Given the description of an element on the screen output the (x, y) to click on. 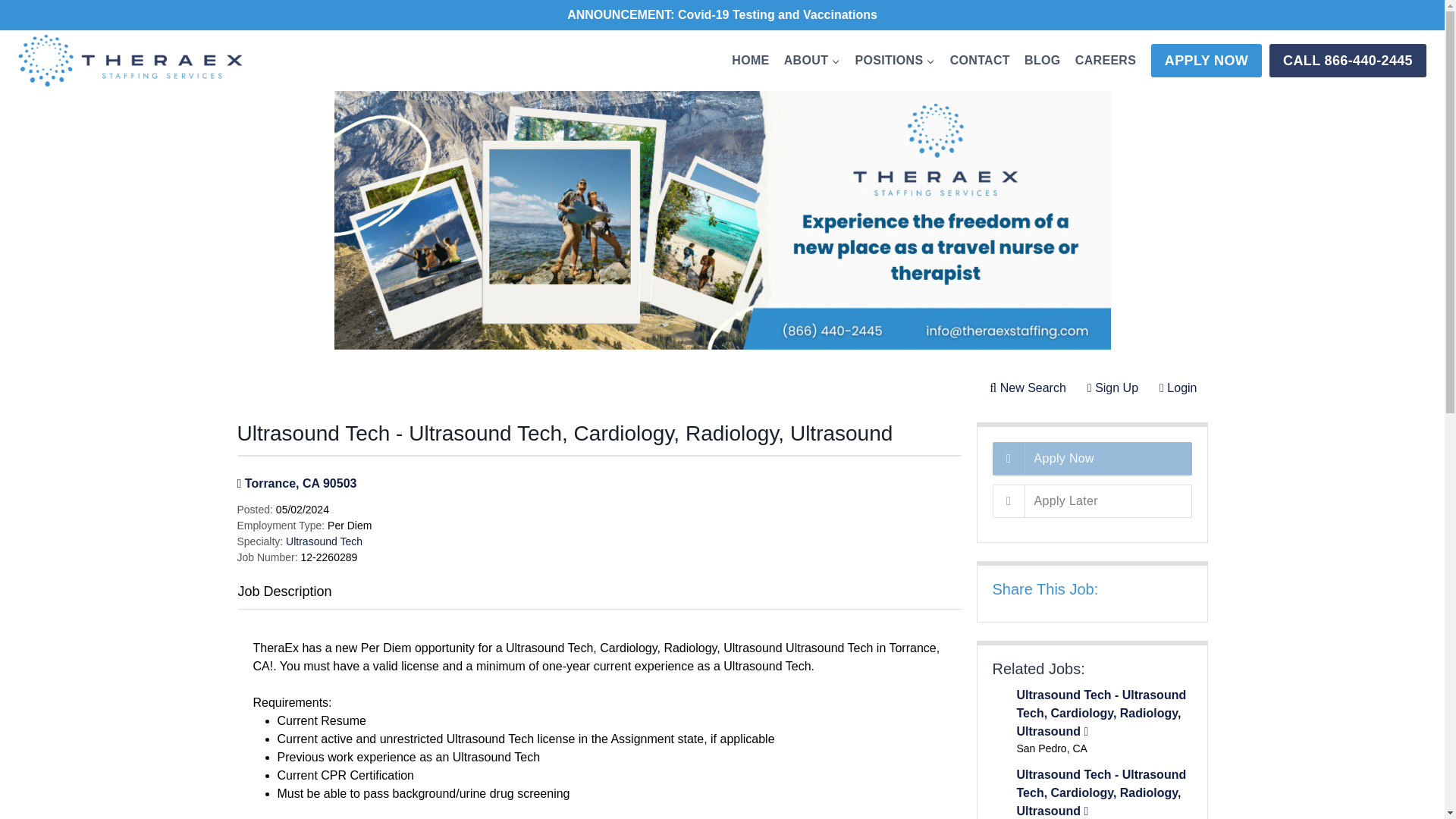
Sign Up (1112, 387)
HOME (750, 59)
BLOG (1041, 59)
New Search (1027, 387)
POSITIONS (894, 59)
Torrance, CA 90503 (300, 482)
APPLY NOW (1206, 60)
Ultrasound Tech (323, 541)
ABOUT (811, 59)
CONTACT (979, 59)
